Given the description of an element on the screen output the (x, y) to click on. 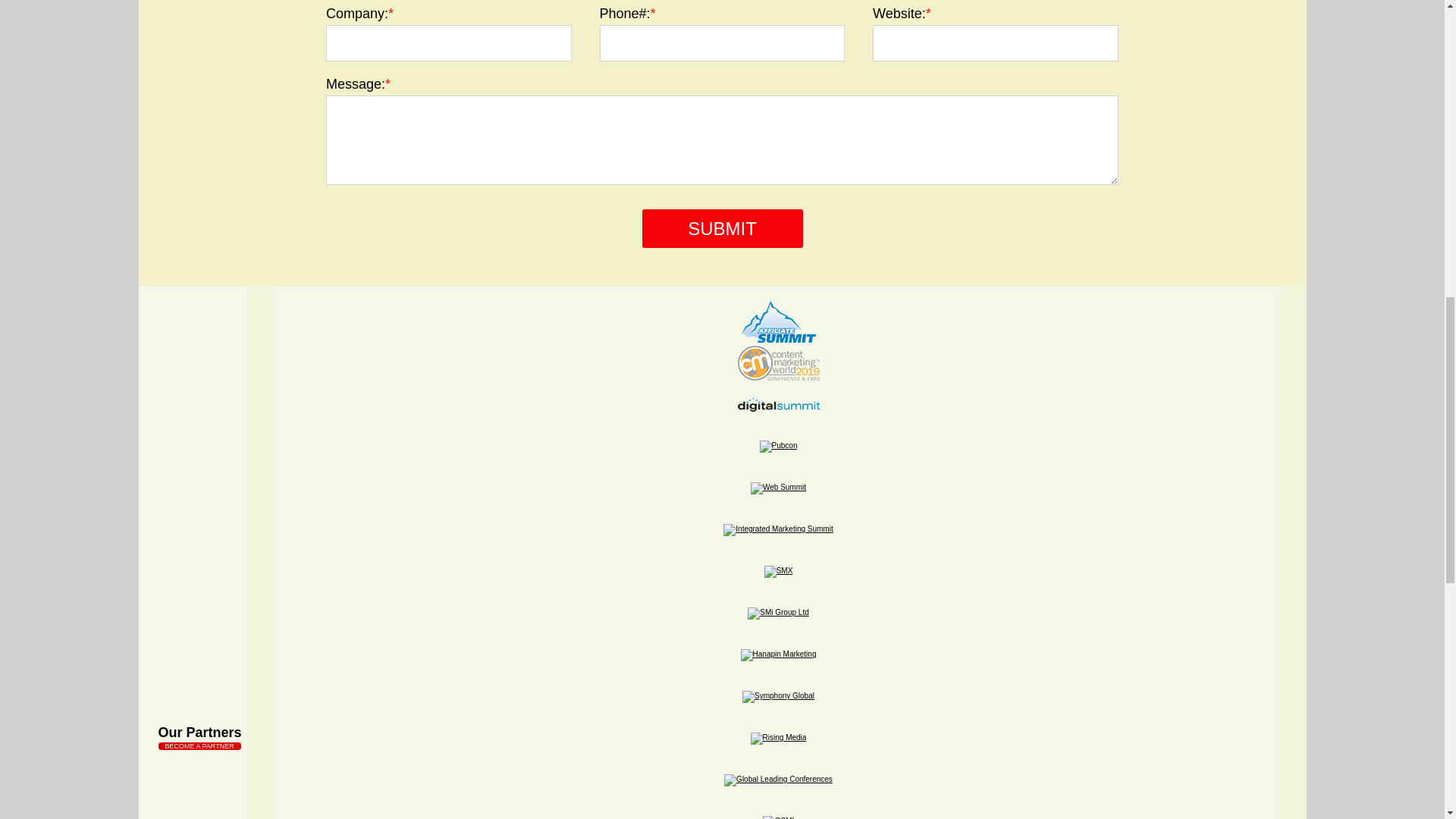
Submit (722, 228)
